Given the description of an element on the screen output the (x, y) to click on. 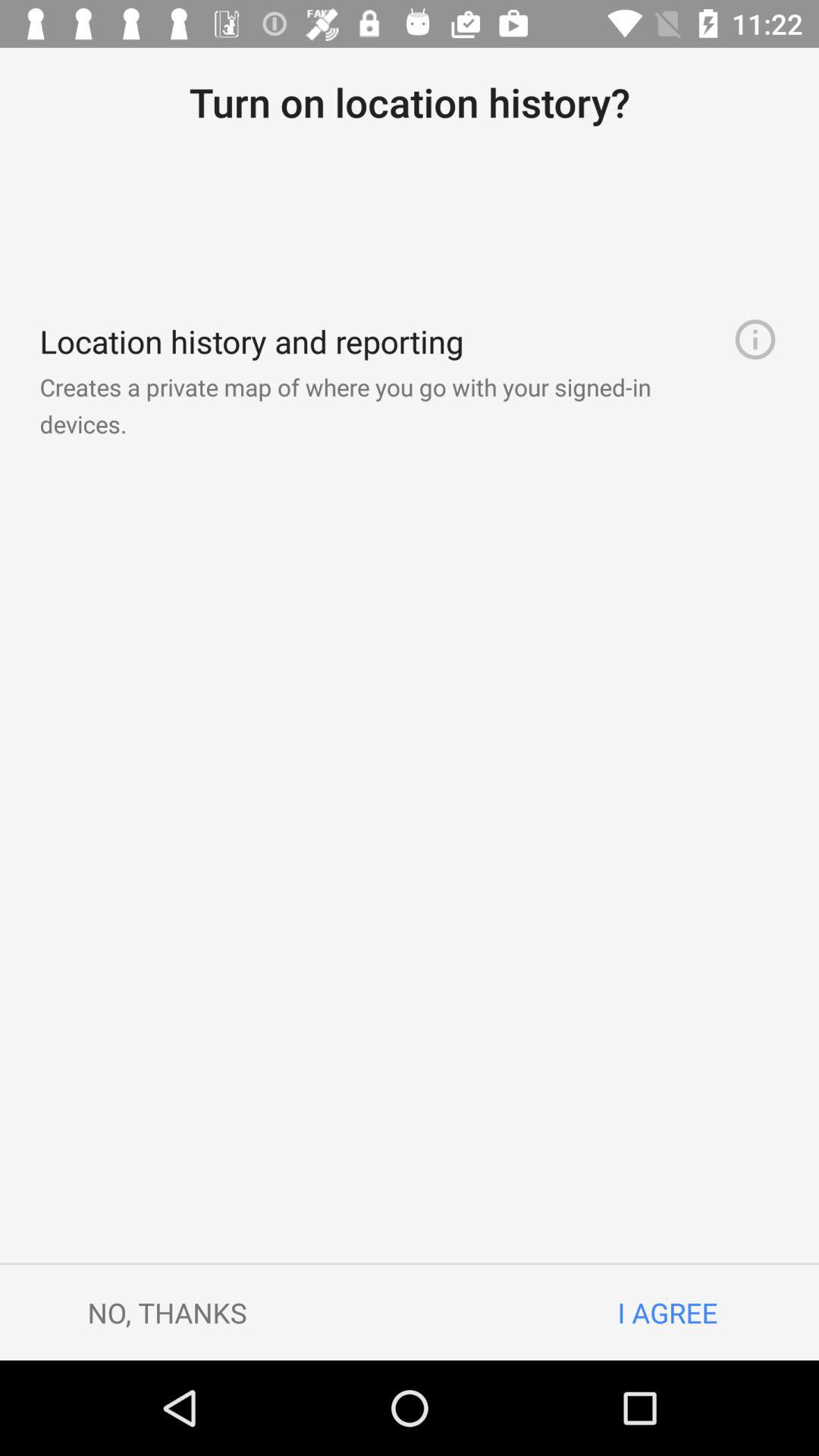
tap icon to the left of the i agree item (166, 1312)
